Given the description of an element on the screen output the (x, y) to click on. 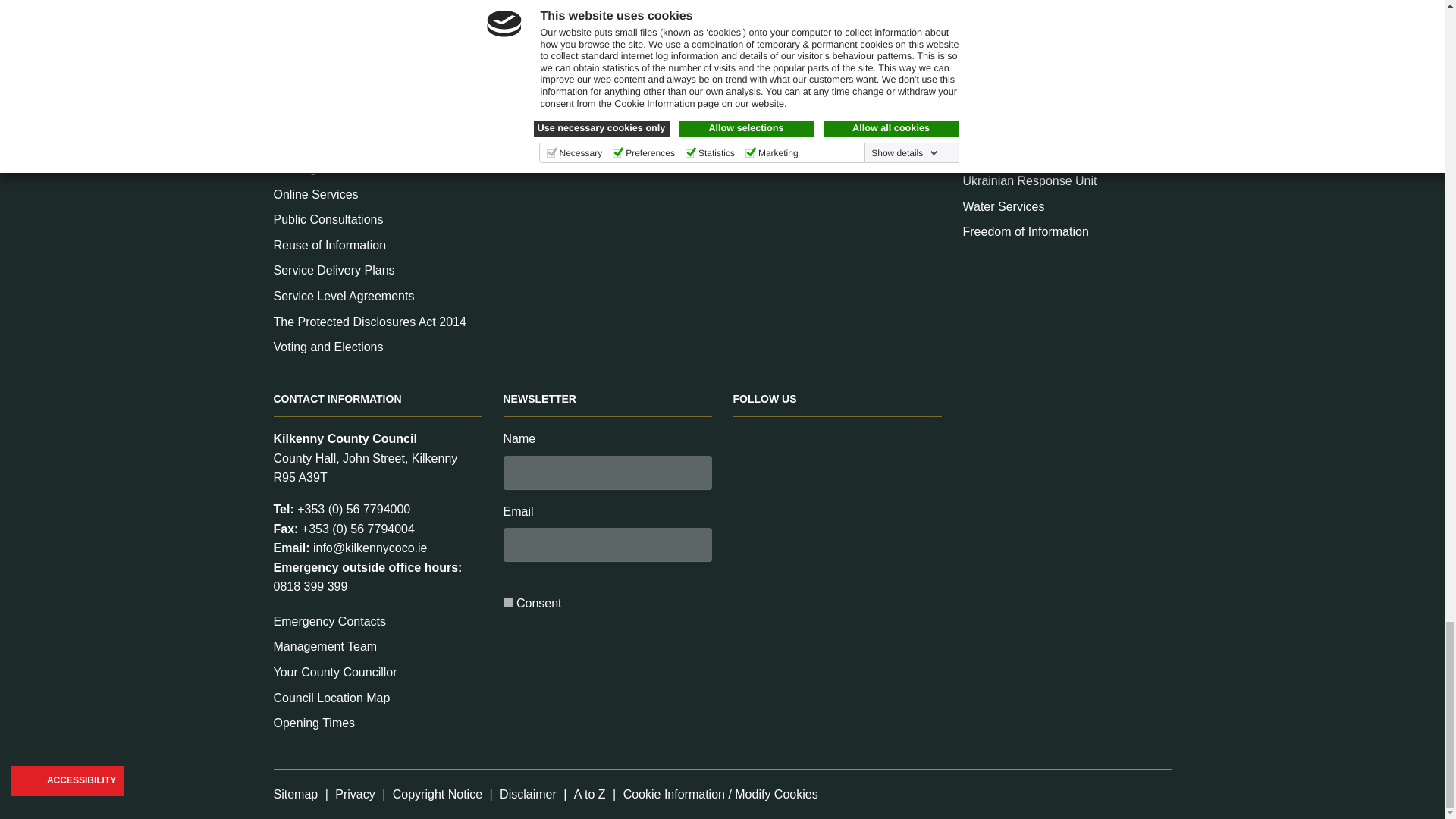
on (508, 602)
